Given the description of an element on the screen output the (x, y) to click on. 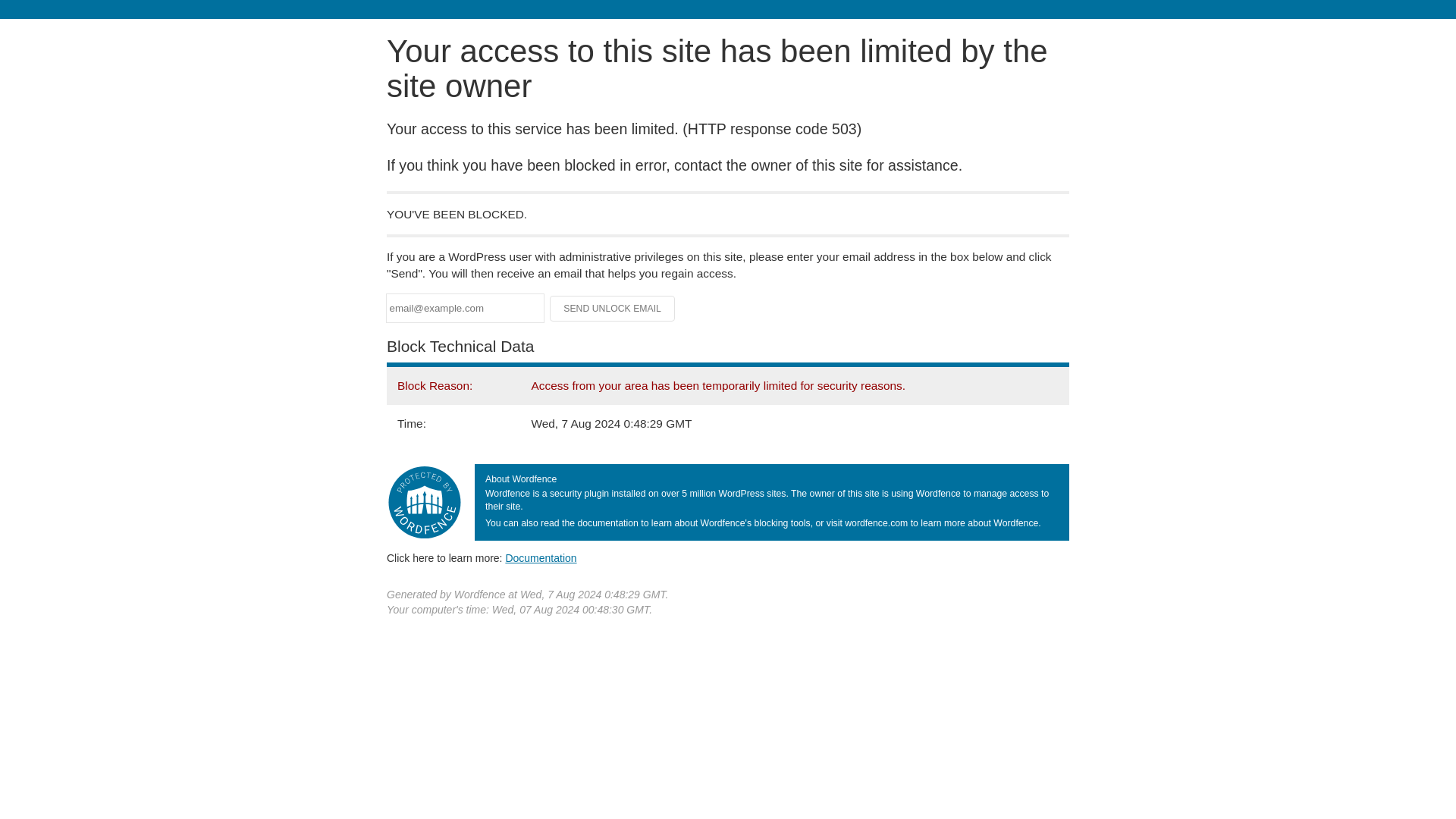
Send Unlock Email (612, 308)
Documentation (540, 558)
Send Unlock Email (612, 308)
